Given the description of an element on the screen output the (x, y) to click on. 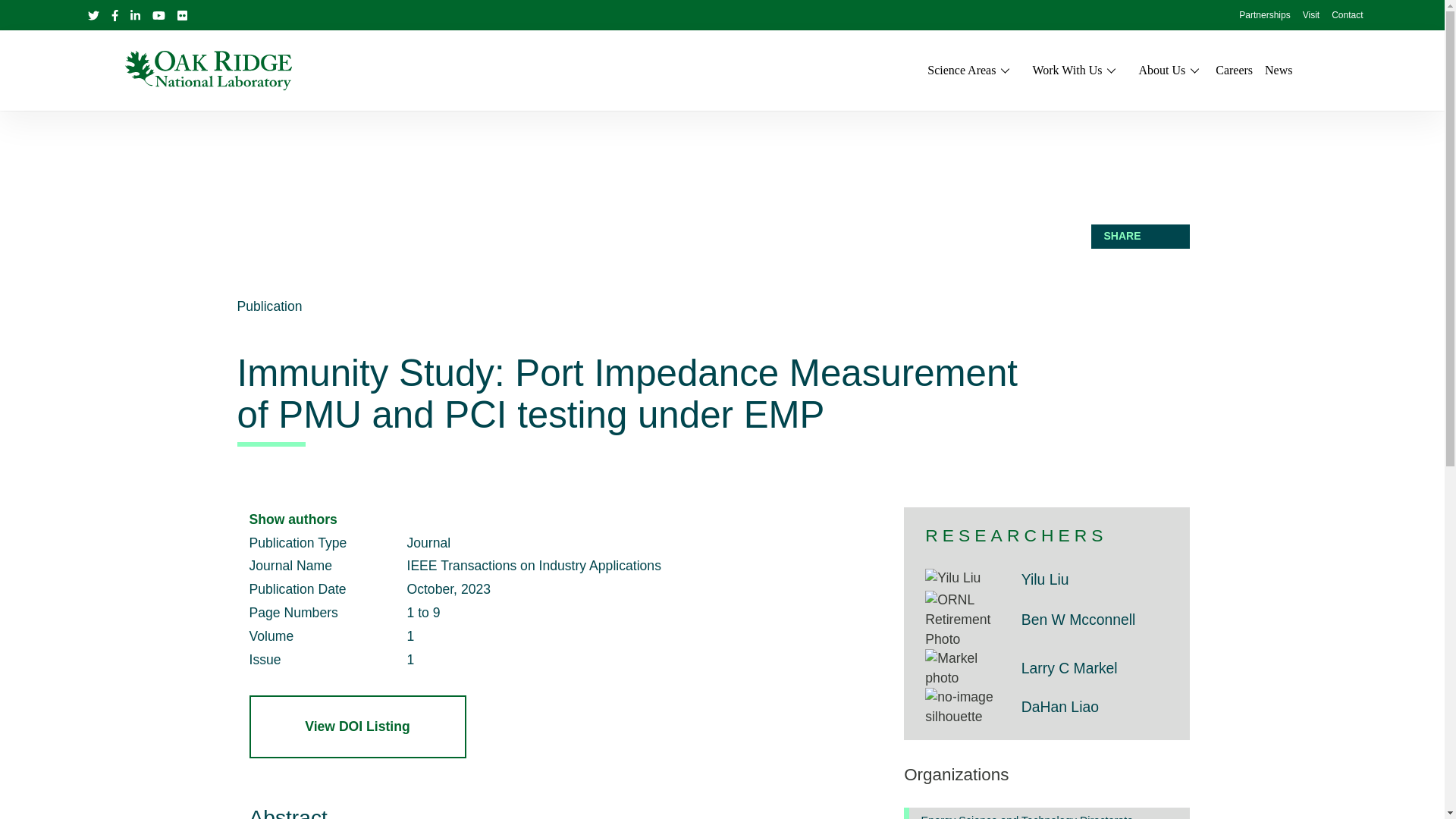
Yilu Liu (951, 578)
Show authors (292, 519)
Partnerships (1264, 15)
Careers (1233, 69)
View DOI Listing (356, 726)
News (1278, 69)
Oak Ridge National Laboratory (208, 70)
YouTube (158, 15)
Contact (1347, 15)
